Given the description of an element on the screen output the (x, y) to click on. 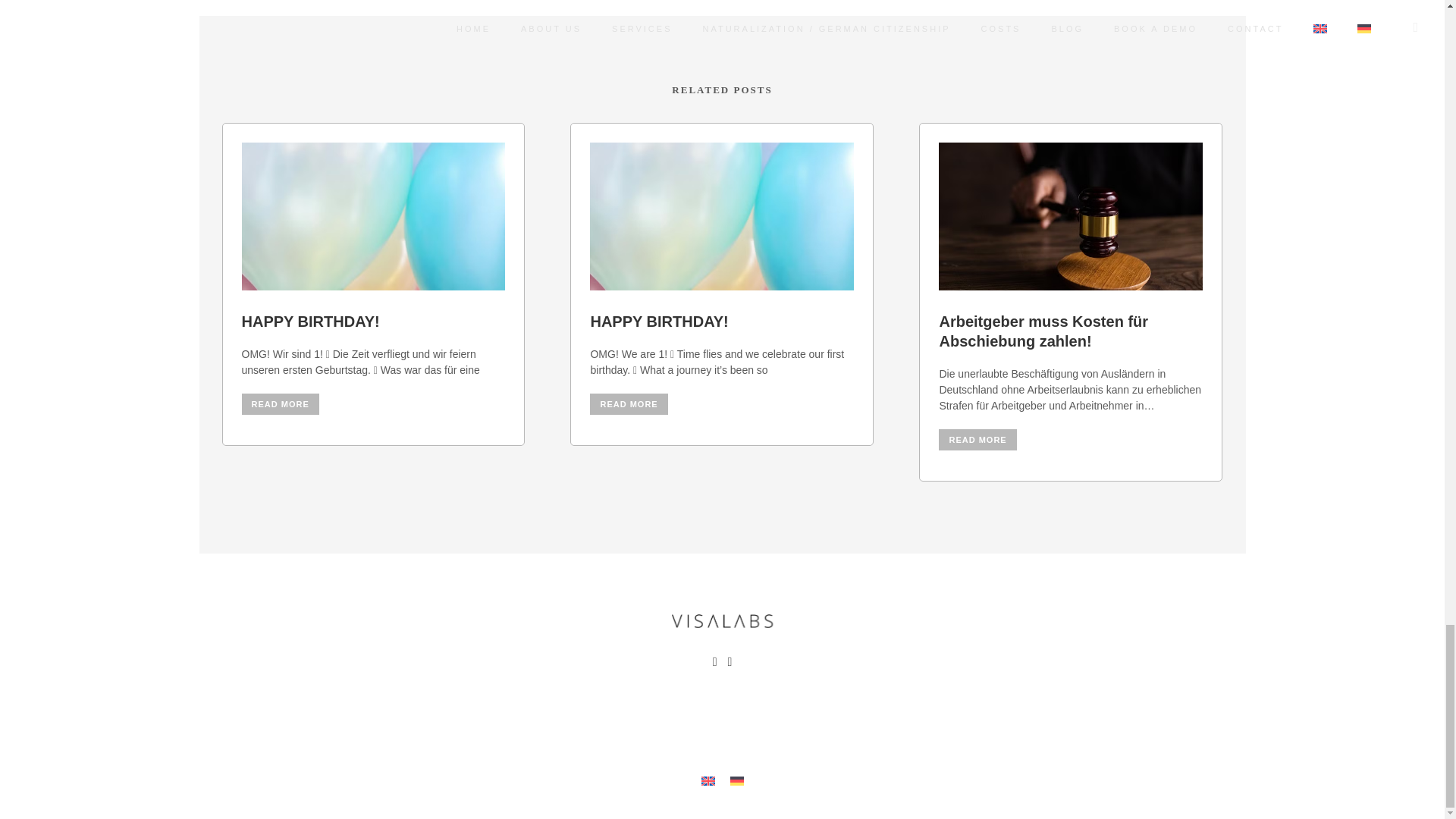
email (729, 664)
LinkedIn (714, 664)
